Given the description of an element on the screen output the (x, y) to click on. 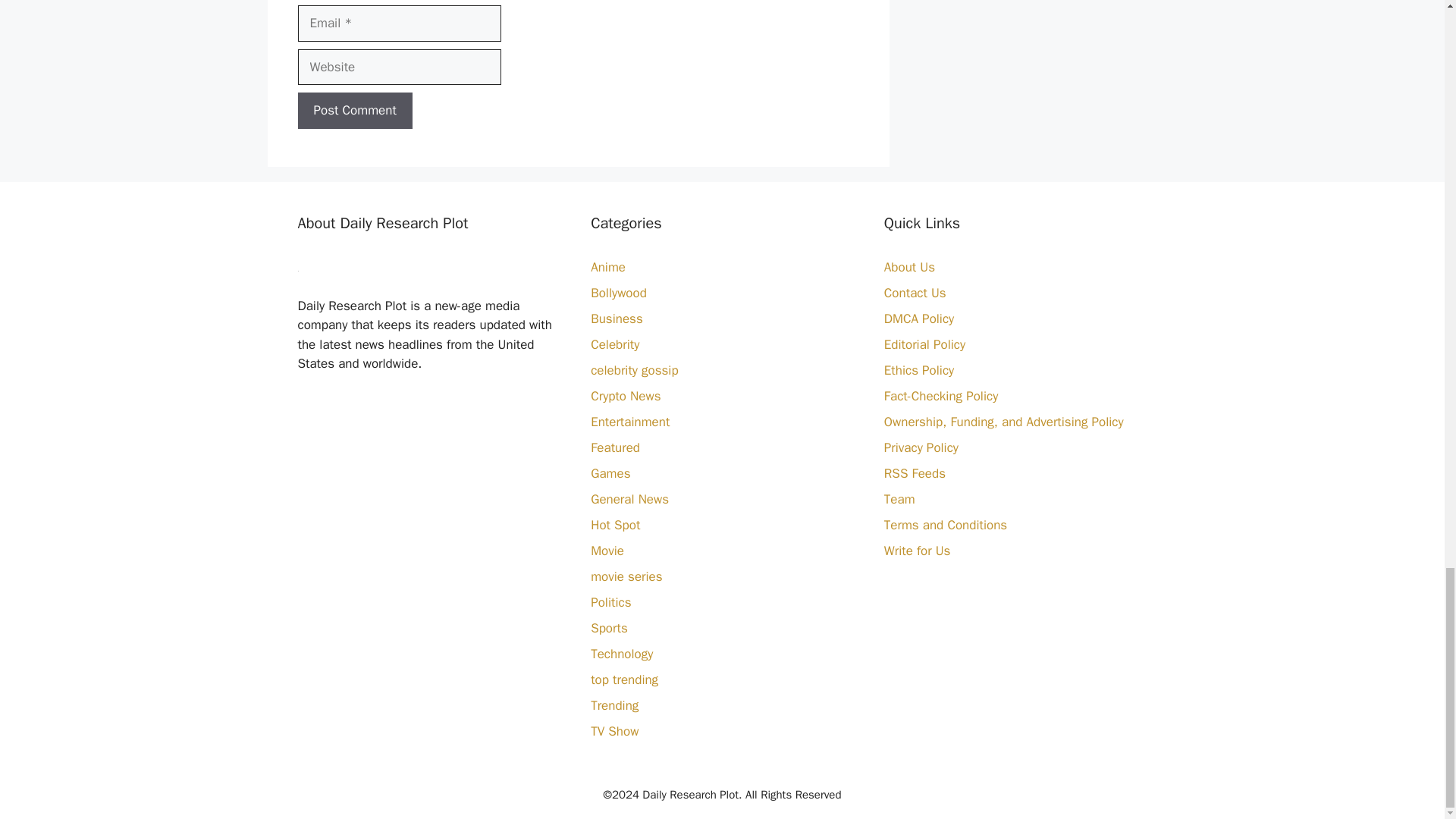
Post Comment (354, 110)
